Given the description of an element on the screen output the (x, y) to click on. 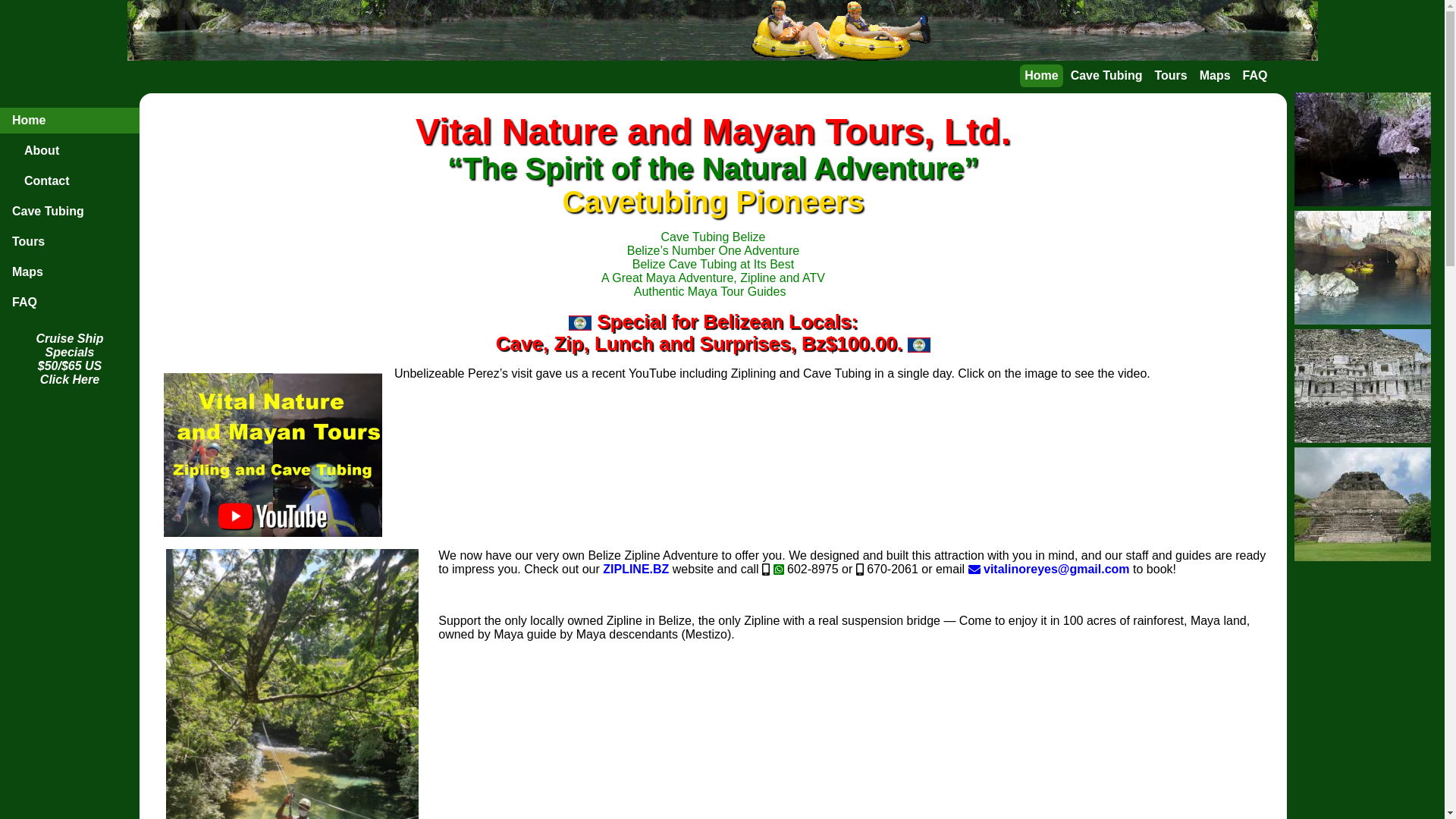
Tours Element type: text (69, 241)
Touring Belize Element type: hover (272, 454)
Home Element type: text (1041, 75)
Maps Element type: text (1214, 75)
FAQ Element type: text (1254, 75)
FAQ Element type: text (69, 302)
Tours Element type: text (1170, 75)
ZIPLINE.BZ Element type: text (635, 568)
Maps Element type: text (69, 272)
Home Element type: text (69, 120)
vitalinoreyes@gmail.com Element type: text (1048, 568)
Cruise Ship Specials
$50/$65 US
Click Here Element type: text (69, 358)
Contact Element type: text (69, 181)
Cave Tubing Element type: text (1106, 75)
Cave Tubing Element type: text (69, 211)
About Element type: text (69, 150)
